Given the description of an element on the screen output the (x, y) to click on. 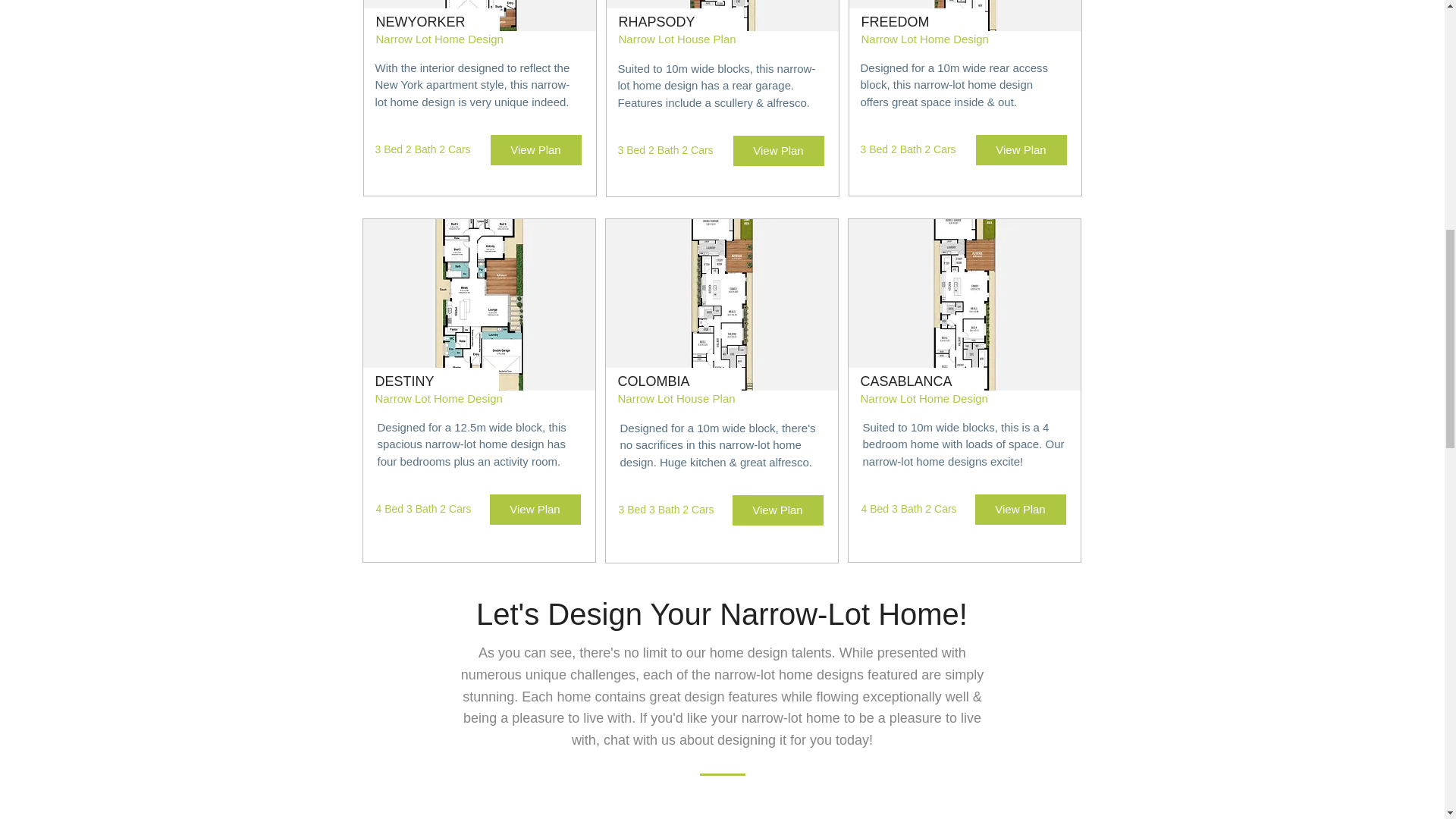
Narrow-Lot House Plan - The Colombia (721, 304)
View Plan (1020, 509)
View Plan (778, 510)
Narrow-Lot Home Design - The Destiny (478, 304)
Narrow-Lot Home Design - The Casablanca (963, 304)
View Plan (778, 150)
View Plan (534, 509)
View Plan (534, 150)
Narrow-Lot House Plan - The Rhapsody (722, 15)
View Plan (1020, 150)
Narrow-Lot Home Design - The Freedom (964, 15)
Narrow-Lot Home Design - The Newyorker (479, 15)
